Given the description of an element on the screen output the (x, y) to click on. 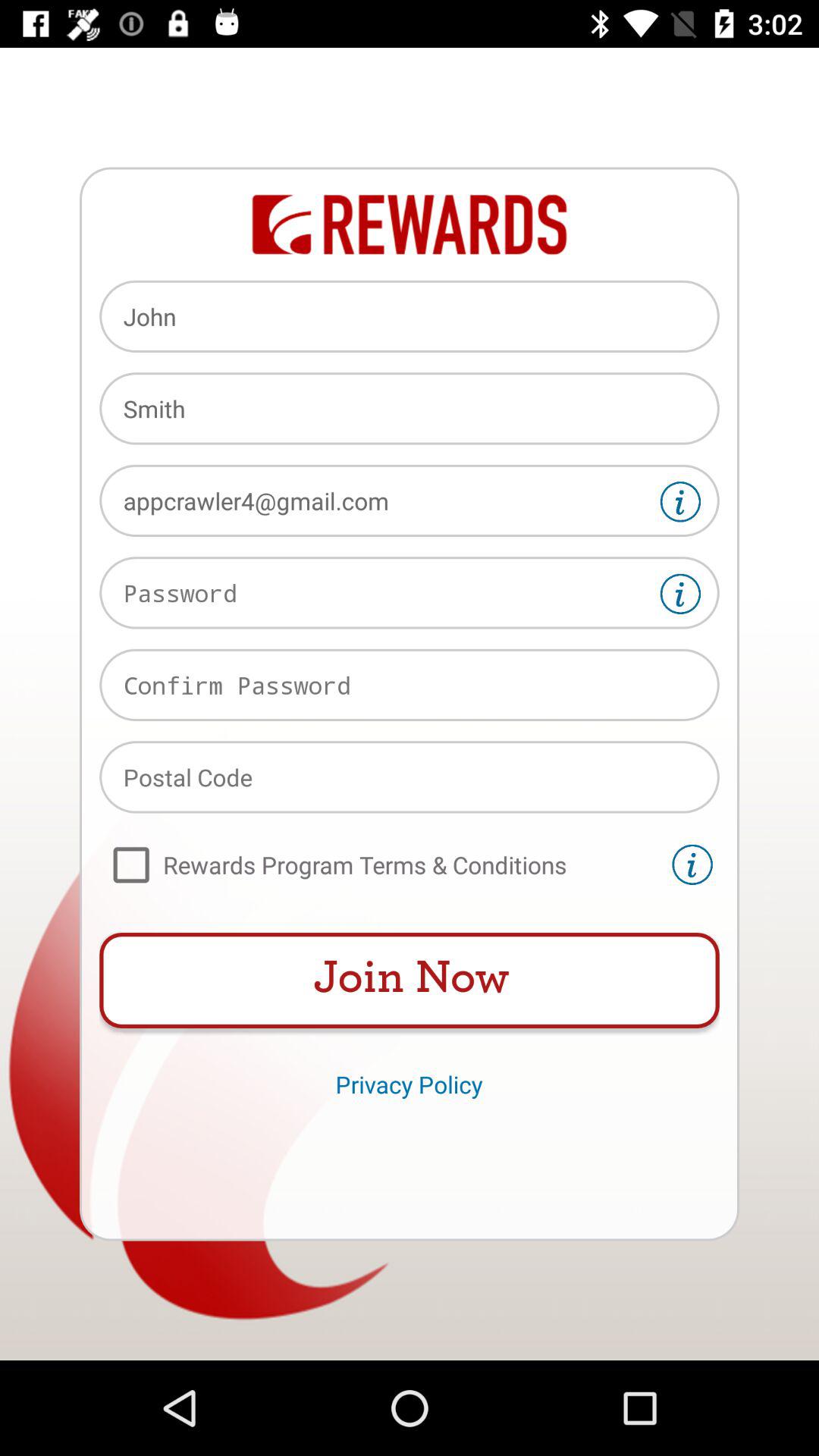
get help finding password (680, 594)
